Given the description of an element on the screen output the (x, y) to click on. 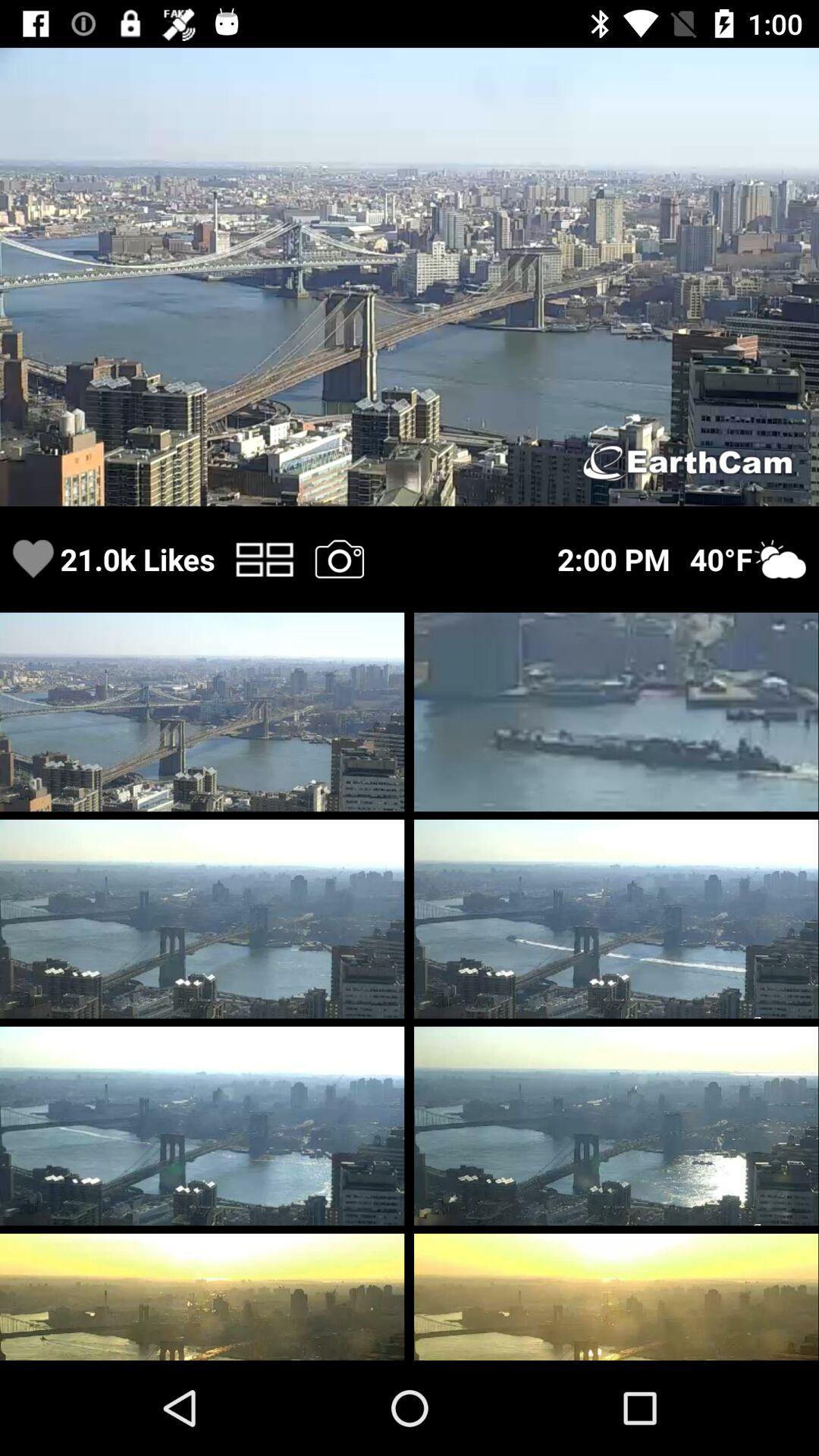
like the page (33, 559)
